Given the description of an element on the screen output the (x, y) to click on. 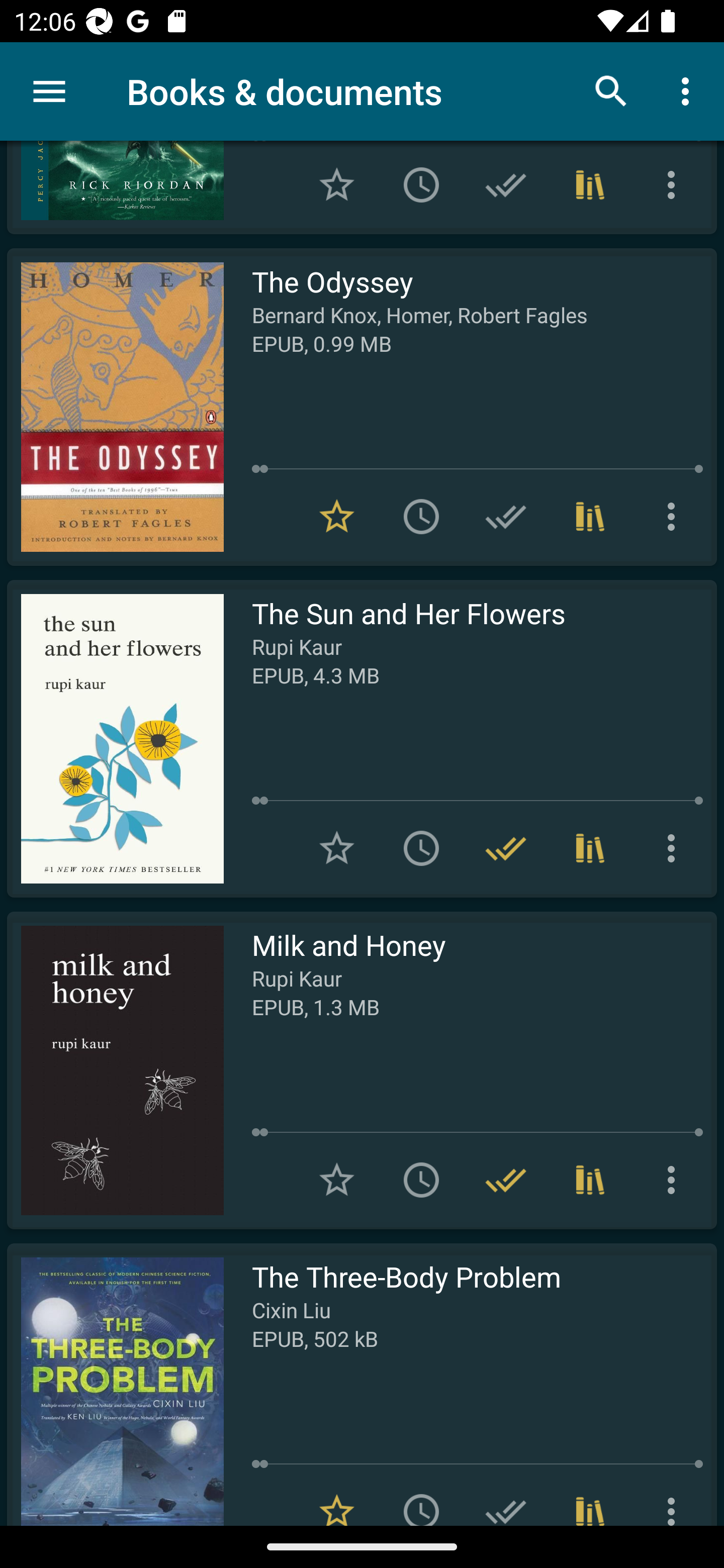
Menu (49, 91)
Search books & documents (611, 90)
More options (688, 90)
Add to Favorites (336, 184)
Add to To read (421, 184)
Add to Have read (505, 184)
Collections (1) (590, 184)
More options (674, 184)
Read The Odyssey (115, 406)
Remove from Favorites (336, 516)
Add to To read (421, 516)
Add to Have read (505, 516)
Collections (2) (590, 516)
More options (674, 516)
Read The Sun and Her Flowers (115, 738)
Add to Favorites (336, 847)
Add to To read (421, 847)
Remove from Have read (505, 847)
Collections (1) (590, 847)
More options (674, 847)
Read Milk and Honey (115, 1070)
Add to Favorites (336, 1179)
Add to To read (421, 1179)
Remove from Have read (505, 1179)
Collections (1) (590, 1179)
More options (674, 1179)
Read The Three-Body Problem (115, 1384)
Remove from Favorites (336, 1497)
Add to To read (421, 1497)
Add to Have read (505, 1497)
Collections (1) (590, 1497)
More options (674, 1497)
